Given the description of an element on the screen output the (x, y) to click on. 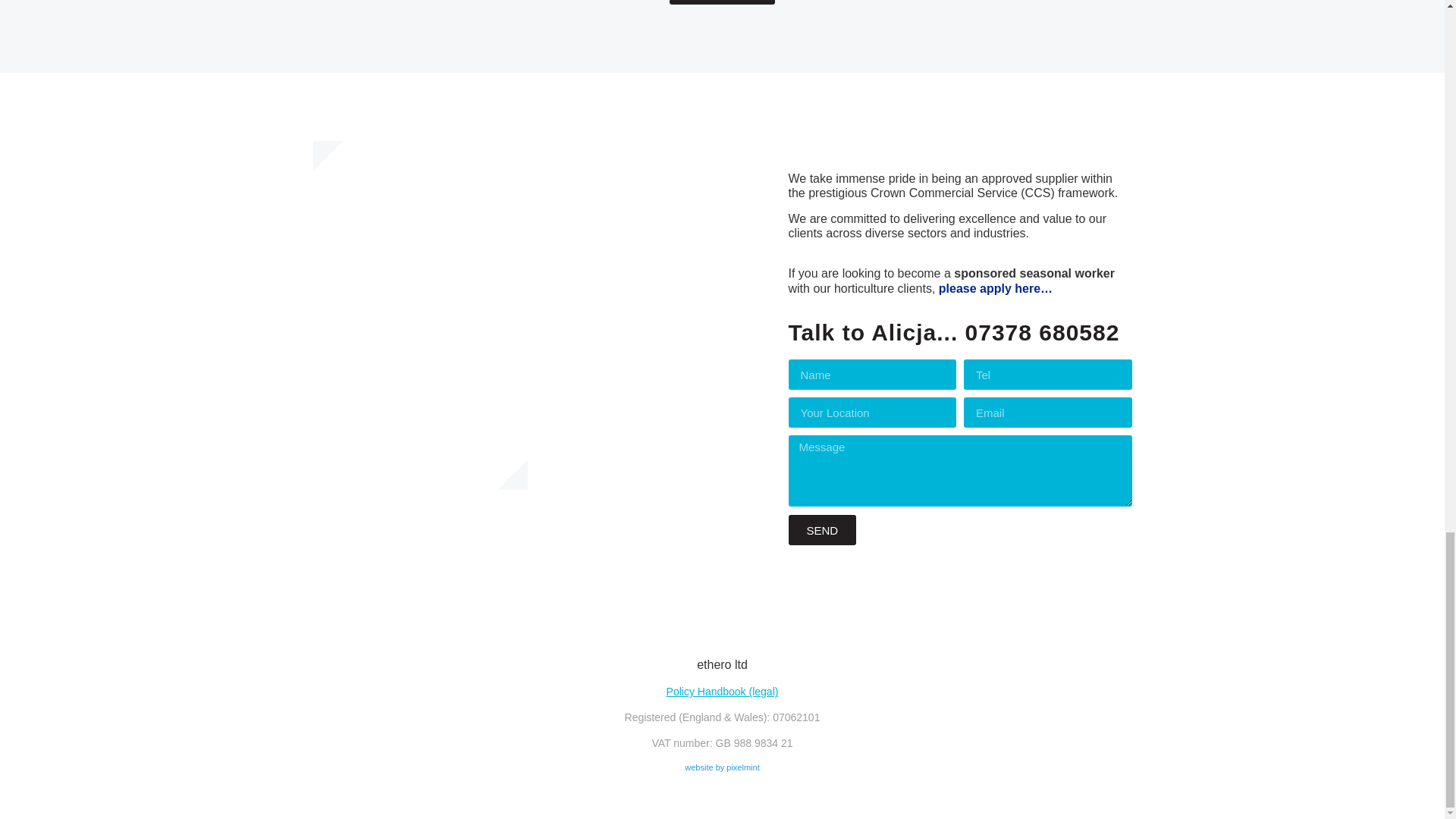
CONTACT (721, 2)
website by pixelmint (721, 767)
SEND (823, 530)
